Given the description of an element on the screen output the (x, y) to click on. 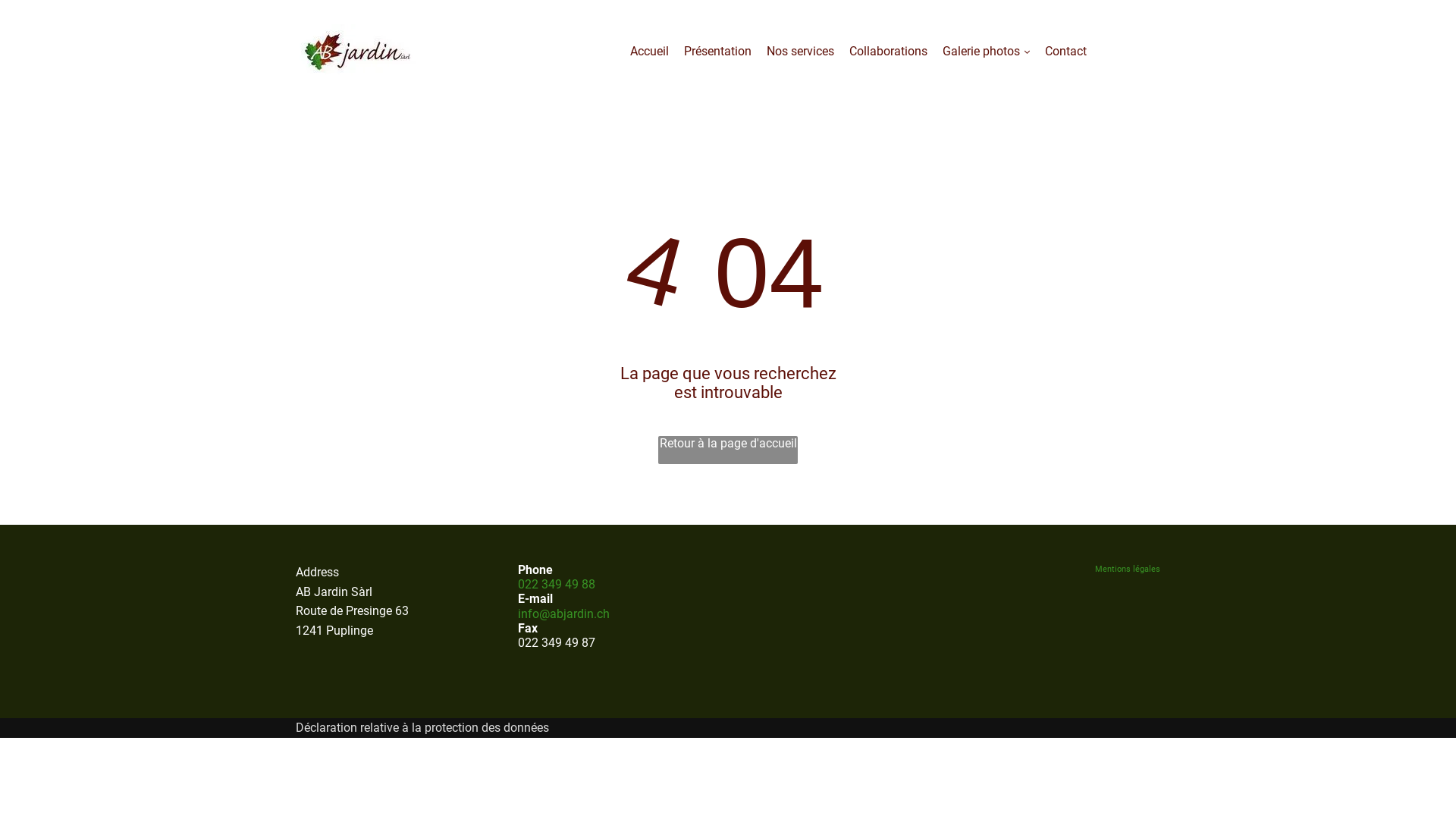
Collaborations Element type: text (880, 51)
022 349 49 88 Element type: text (555, 591)
Accueil Element type: text (641, 51)
Galerie photos Element type: text (977, 51)
Contact Element type: text (1057, 51)
Nos services Element type: text (791, 51)
info@abjardin.ch Element type: text (562, 613)
